Given the description of an element on the screen output the (x, y) to click on. 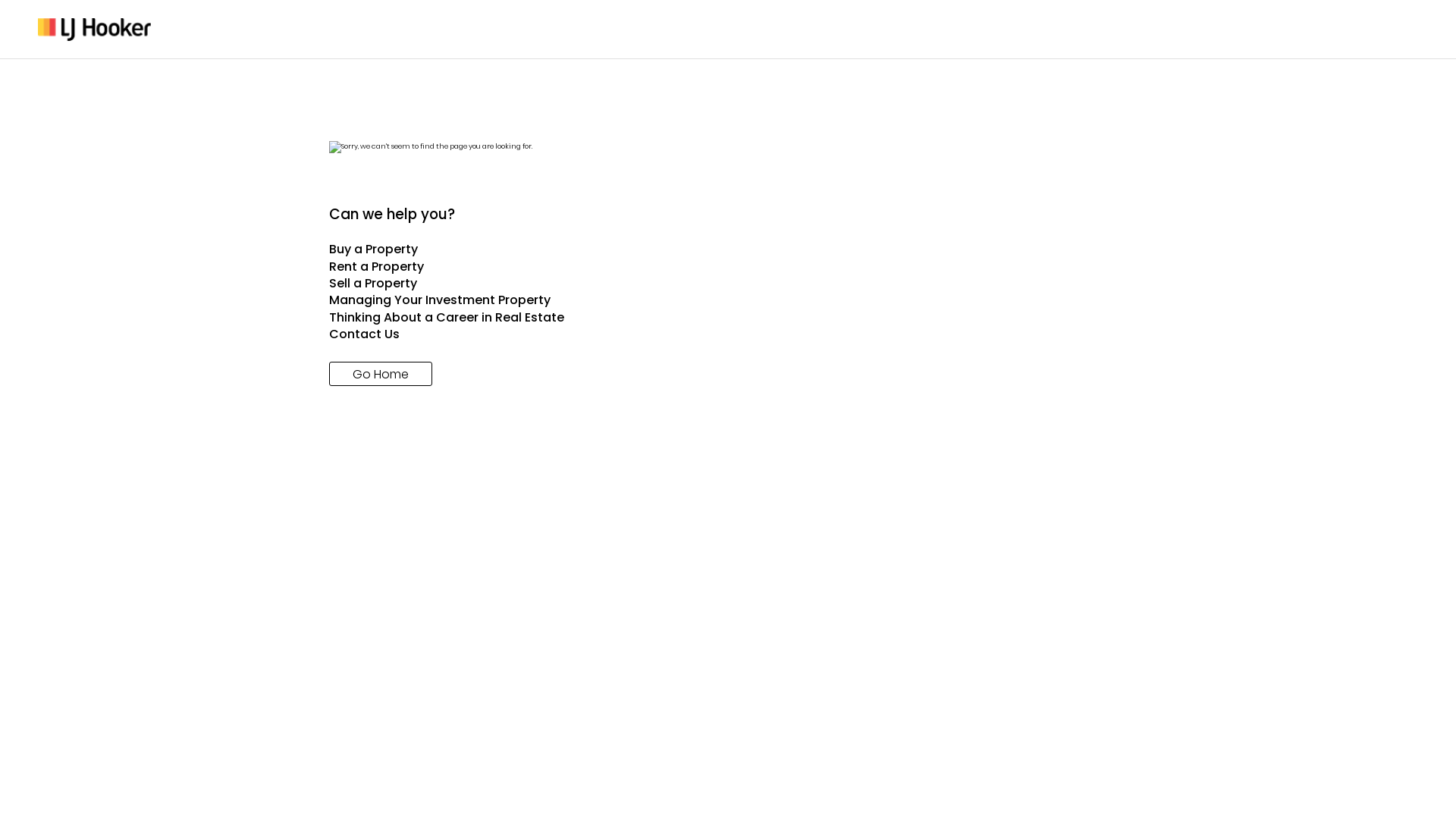
Buy a Property Element type: text (727, 249)
Rent a Property Element type: text (727, 266)
Contact Us Element type: text (727, 334)
Sell a Property Element type: text (727, 283)
Managing Your Investment Property Element type: text (727, 299)
Thinking About a Career in Real Estate Element type: text (727, 317)
Go Home Element type: text (380, 372)
